Given the description of an element on the screen output the (x, y) to click on. 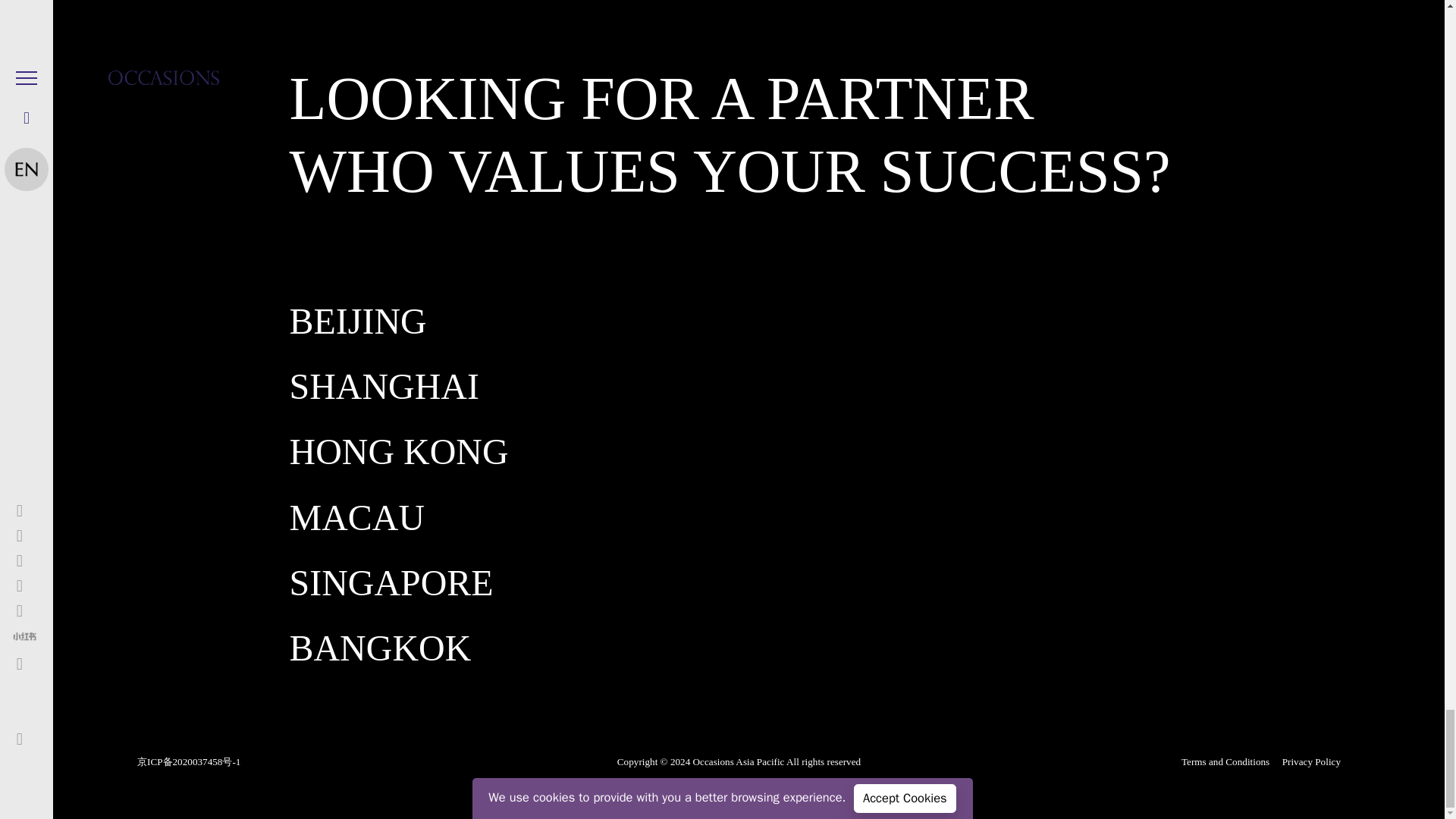
BEIJING (357, 321)
MACAU (357, 517)
SHANGHAI (384, 386)
HONG KONG (398, 451)
